Given the description of an element on the screen output the (x, y) to click on. 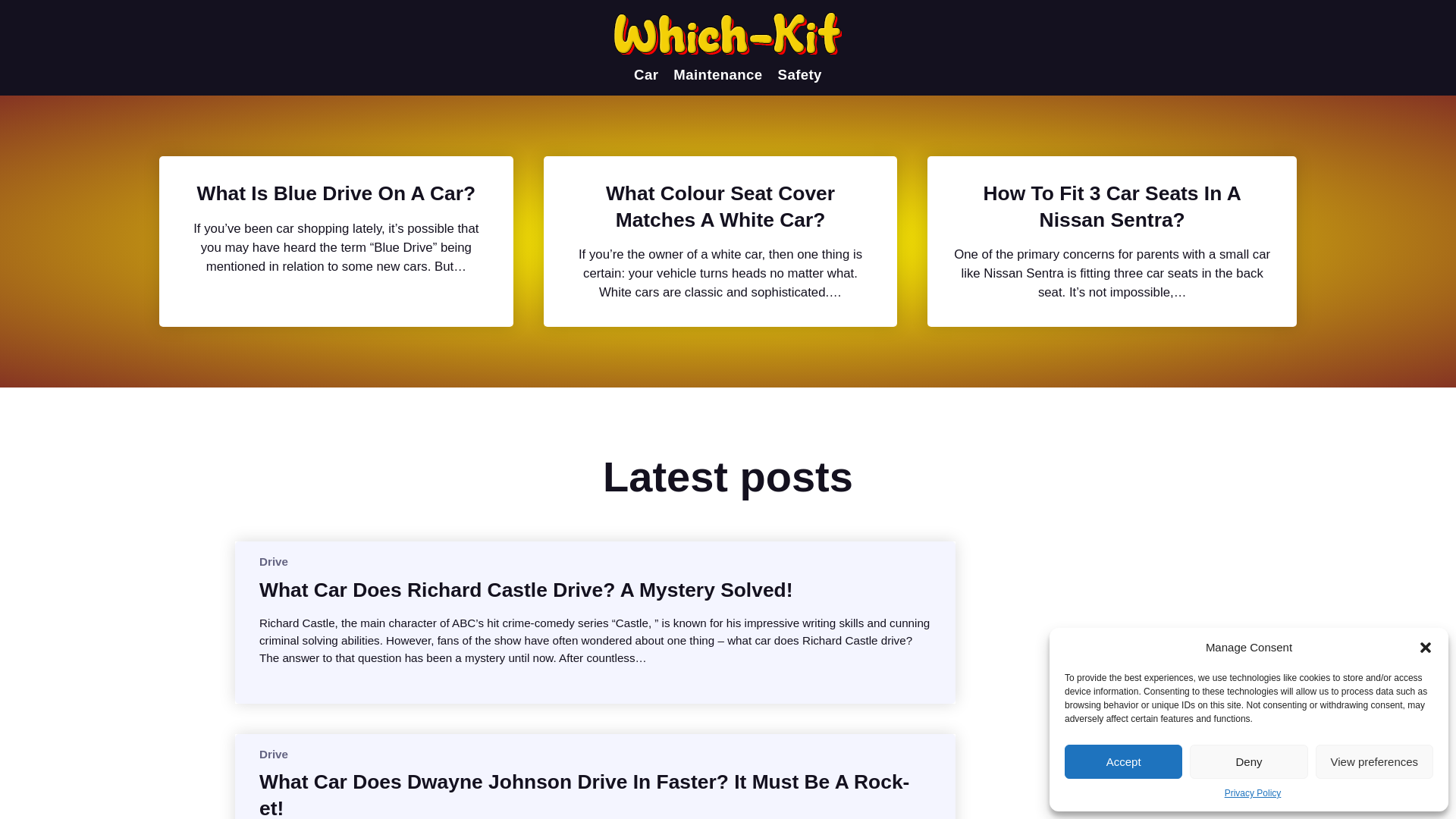
Safety (799, 74)
What Is Blue Drive On A Car? (336, 193)
Accept (1123, 761)
What Car Does Richard Castle Drive? A Mystery Solved! (525, 589)
Car (645, 74)
Drive (273, 561)
Maintenance (716, 74)
What Colour Seat Cover Matches A White Car? (720, 206)
Drive (273, 753)
